Given the description of an element on the screen output the (x, y) to click on. 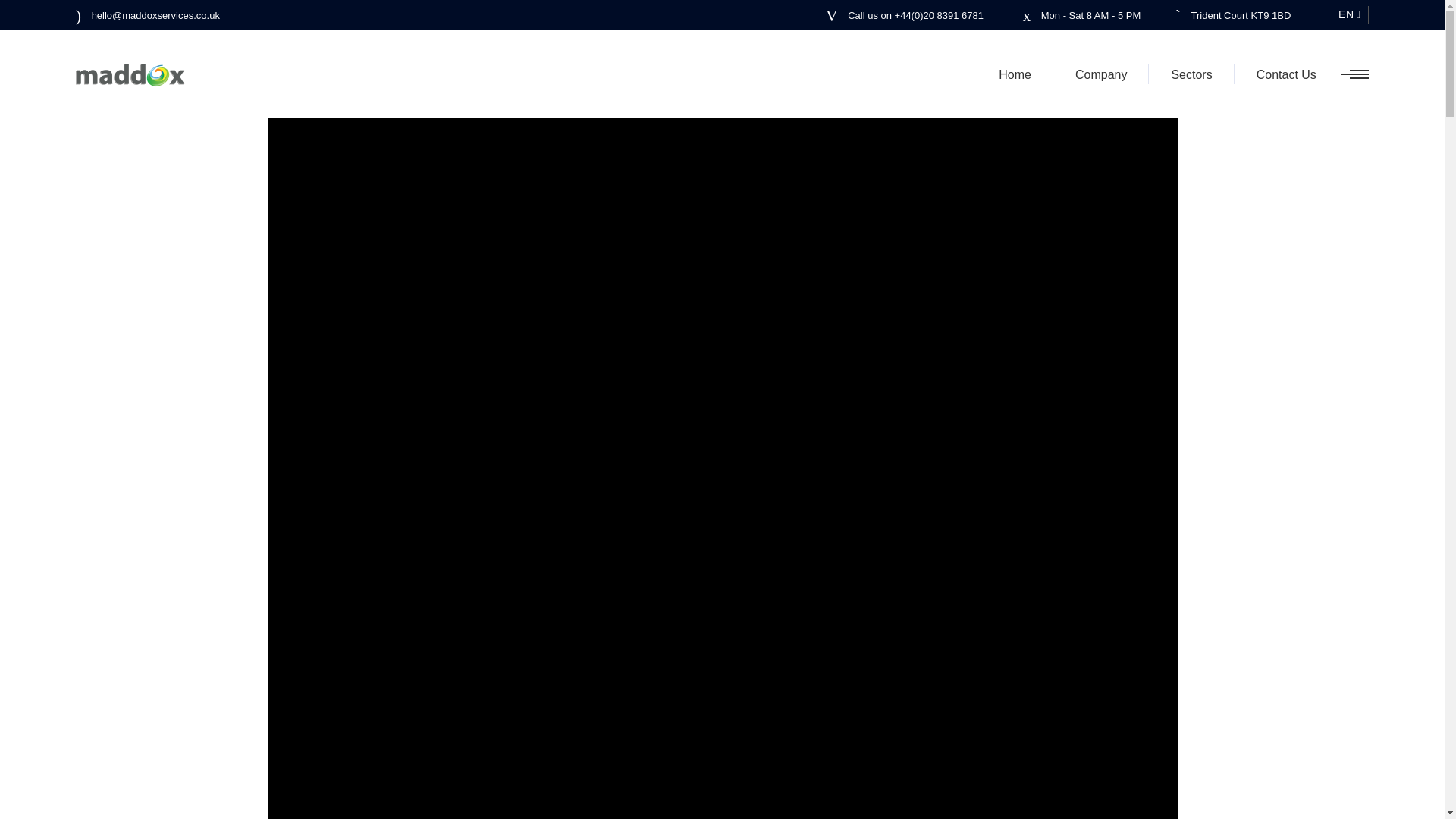
Sectors (1190, 73)
Contact Us (1286, 73)
Company (1100, 73)
Mon - Sat 8 AM - 5 PM (1082, 14)
Trident Court KT9 1BD (1232, 14)
EN (1347, 14)
